Given the description of an element on the screen output the (x, y) to click on. 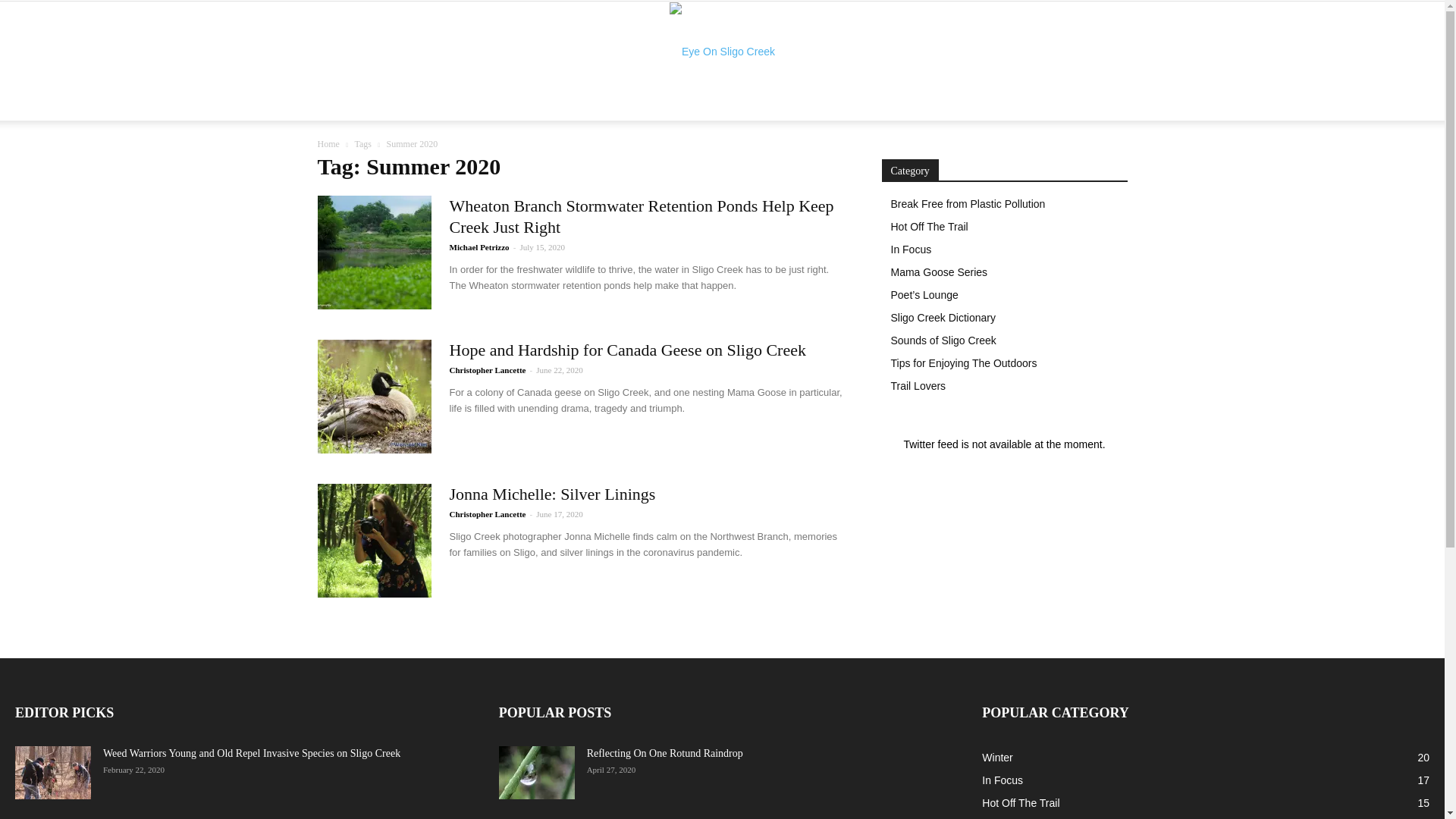
Youtube (1075, 109)
EXPLORE BY SEASON (517, 109)
Eye On Sligo Creek (721, 51)
HOME (344, 109)
Hope and Hardship for Canada Geese on Sligo Creek (626, 349)
AUDIO GALLERY (878, 109)
Facebook (1025, 109)
PHOTO GALLERY (648, 109)
Twitter (1050, 109)
VIDEO GALLERY (761, 109)
Hope and Hardship for Canada Geese on Sligo Creek (373, 396)
IN FOCUS (408, 109)
